Given the description of an element on the screen output the (x, y) to click on. 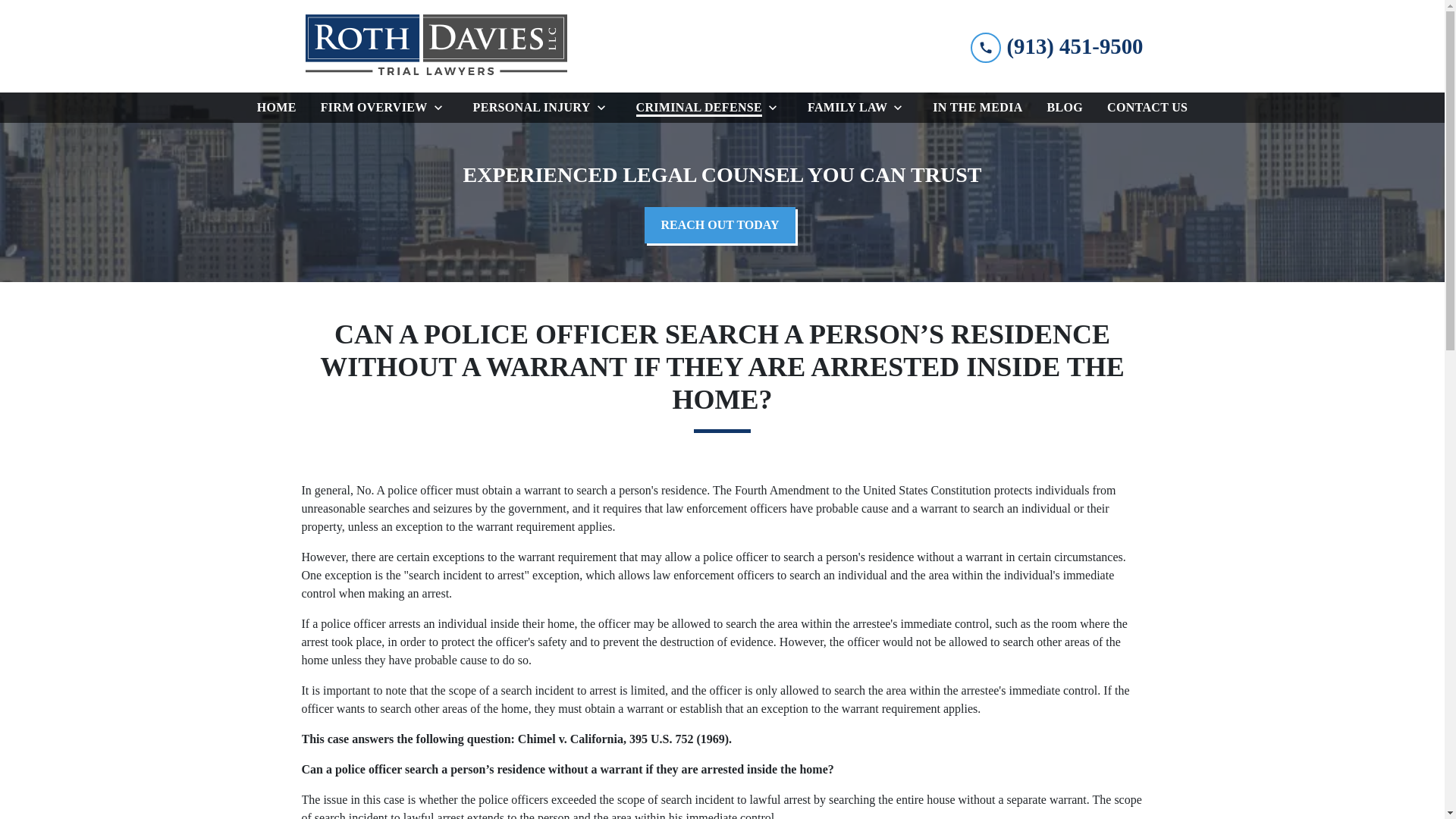
PERSONAL INJURY (529, 107)
CRIMINAL DEFENSE (695, 107)
HOME (276, 107)
FIRM OVERVIEW (371, 107)
